Given the description of an element on the screen output the (x, y) to click on. 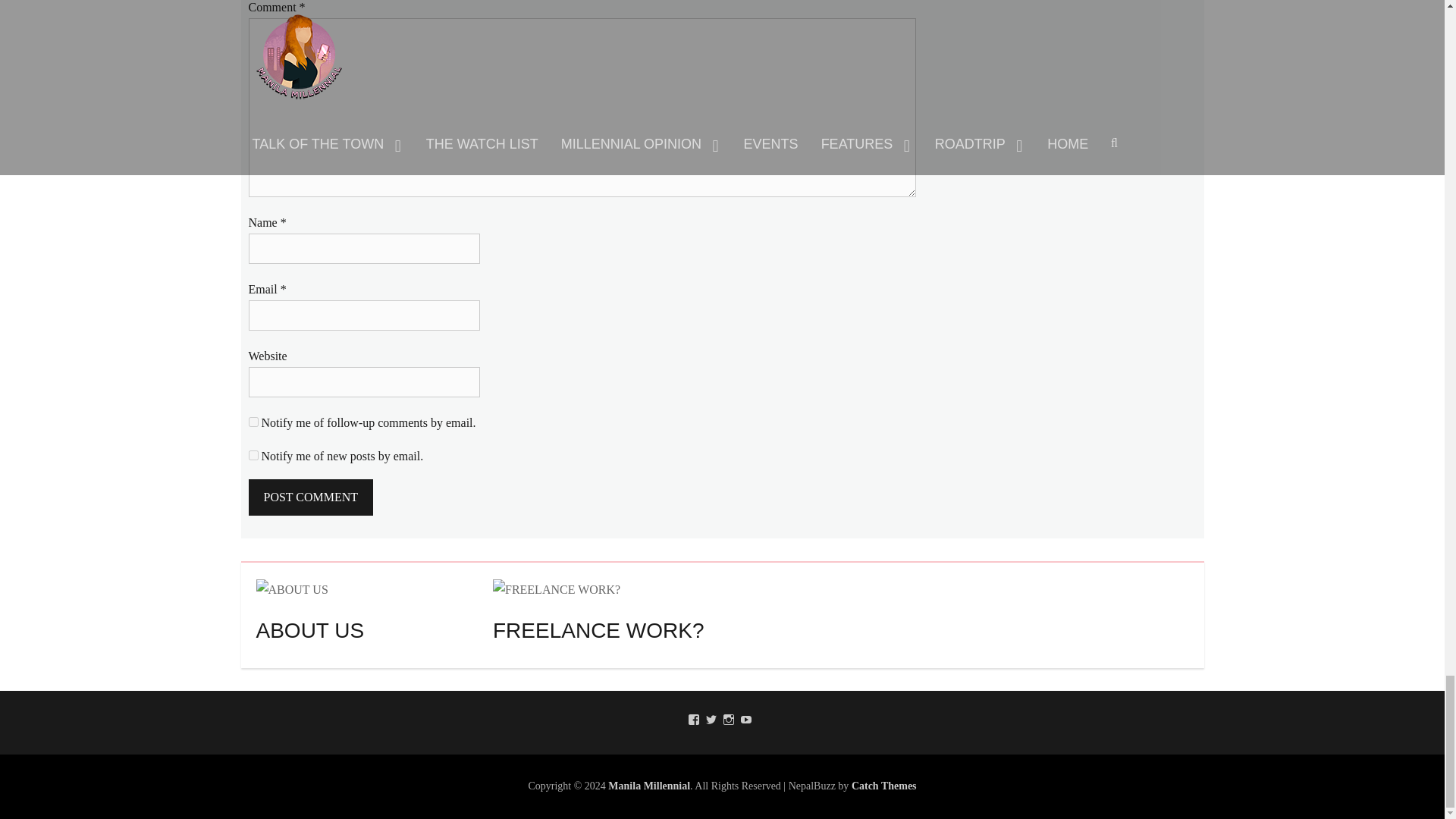
Post Comment (311, 497)
FREELANCE WORK? (556, 587)
ABOUT US (292, 589)
subscribe (253, 421)
ABOUT US (292, 587)
FREELANCE WORK? (556, 589)
subscribe (253, 455)
